Given the description of an element on the screen output the (x, y) to click on. 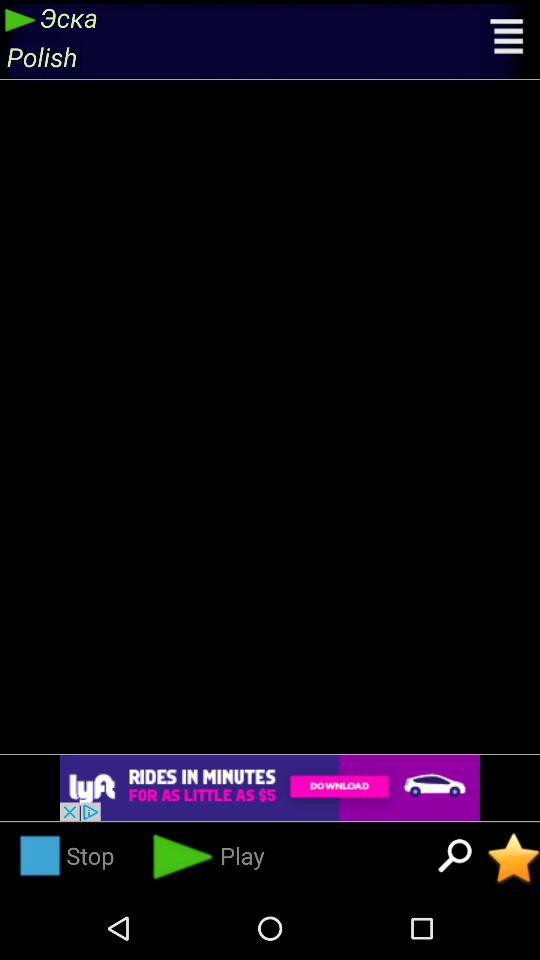
favorite video (513, 858)
